Given the description of an element on the screen output the (x, y) to click on. 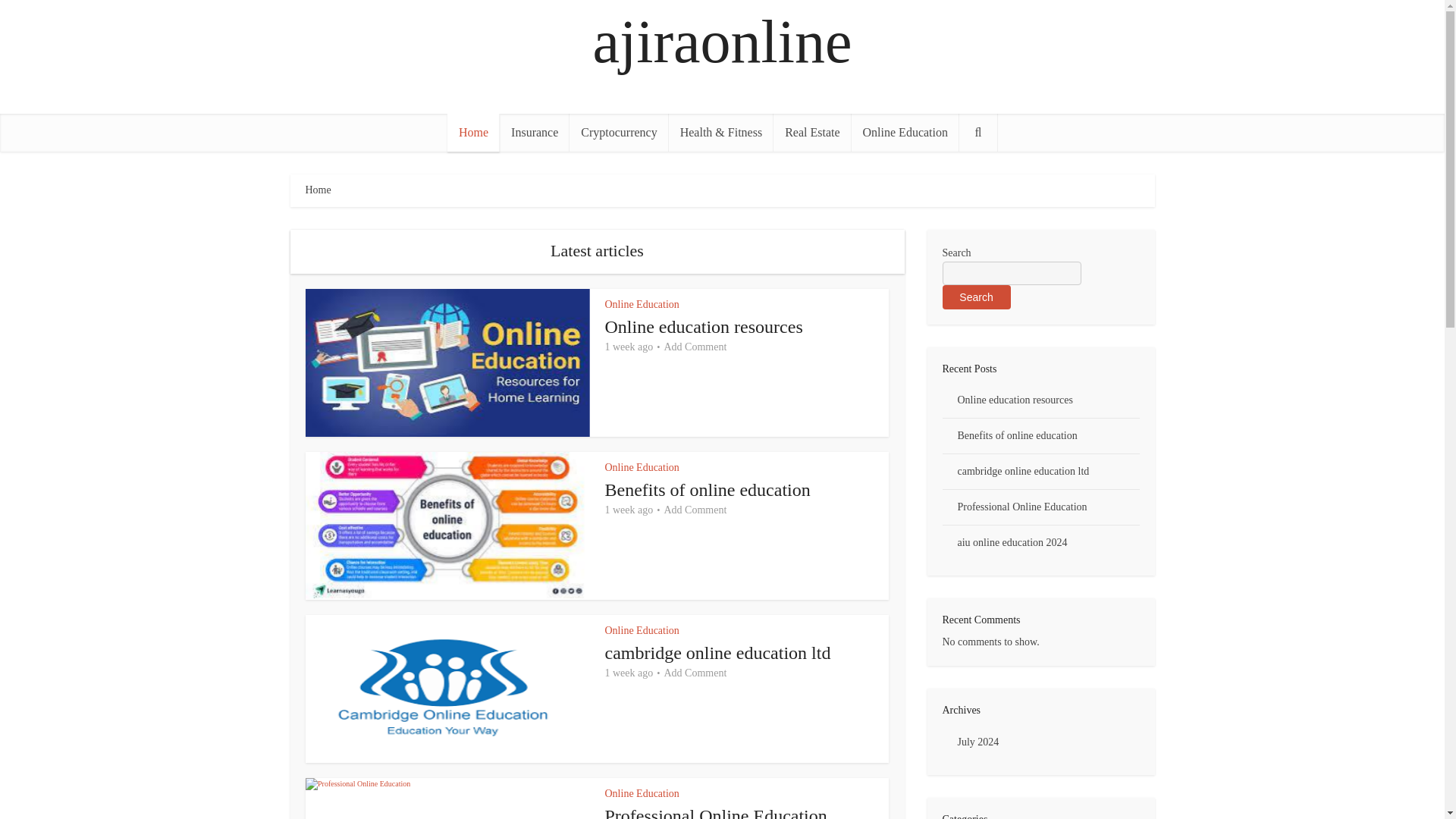
Online education resources (704, 326)
Online Education (642, 467)
Online Education (642, 304)
Add Comment (694, 346)
Online education resources (704, 326)
cambridge online education ltd (718, 652)
Online Education (642, 630)
Real Estate (811, 132)
cambridge online education ltd (718, 652)
Benefits of online education (707, 489)
Home (472, 132)
Online Education (905, 132)
ajiraonline (721, 41)
Online Education (642, 793)
Add Comment (694, 509)
